Given the description of an element on the screen output the (x, y) to click on. 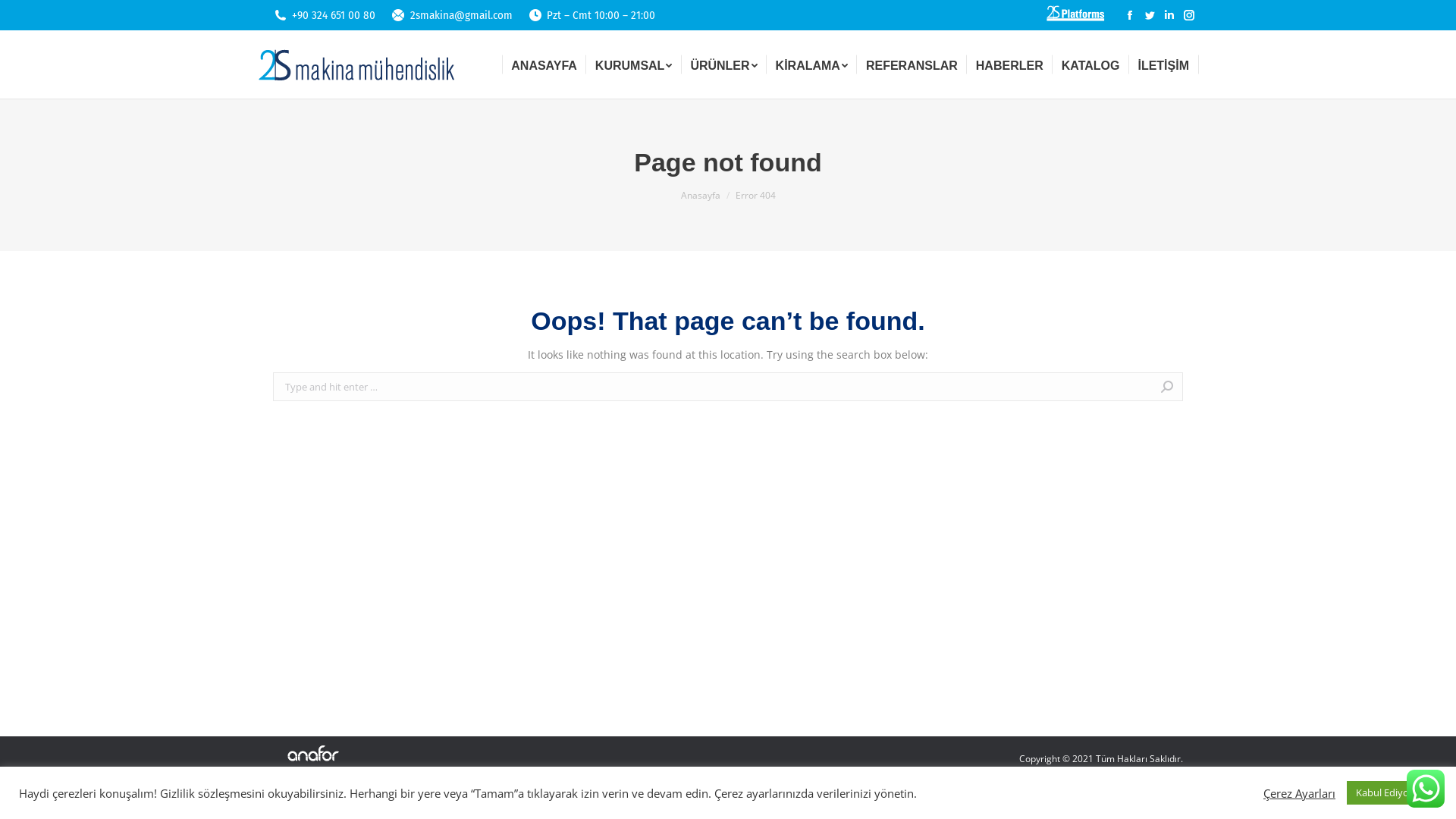
KIRALAMA Element type: text (811, 64)
Kabul Ediyorum Element type: text (1391, 792)
Go! Element type: text (1211, 388)
Instagram page opens in new window Element type: text (1188, 15)
REFERANSLAR Element type: text (911, 64)
Anasayfa Element type: text (700, 194)
Linkedin page opens in new window Element type: text (1169, 15)
ANASAYFA Element type: text (544, 64)
+90 324 651 00 80 Element type: text (333, 15)
KATALOG Element type: text (1090, 64)
Twitter page opens in new window Element type: text (1149, 15)
Facebook page opens in new window Element type: text (1129, 15)
HABERLER Element type: text (1009, 64)
2smakina@gmail.com Element type: text (461, 15)
KURUMSAL Element type: text (633, 64)
